Given the description of an element on the screen output the (x, y) to click on. 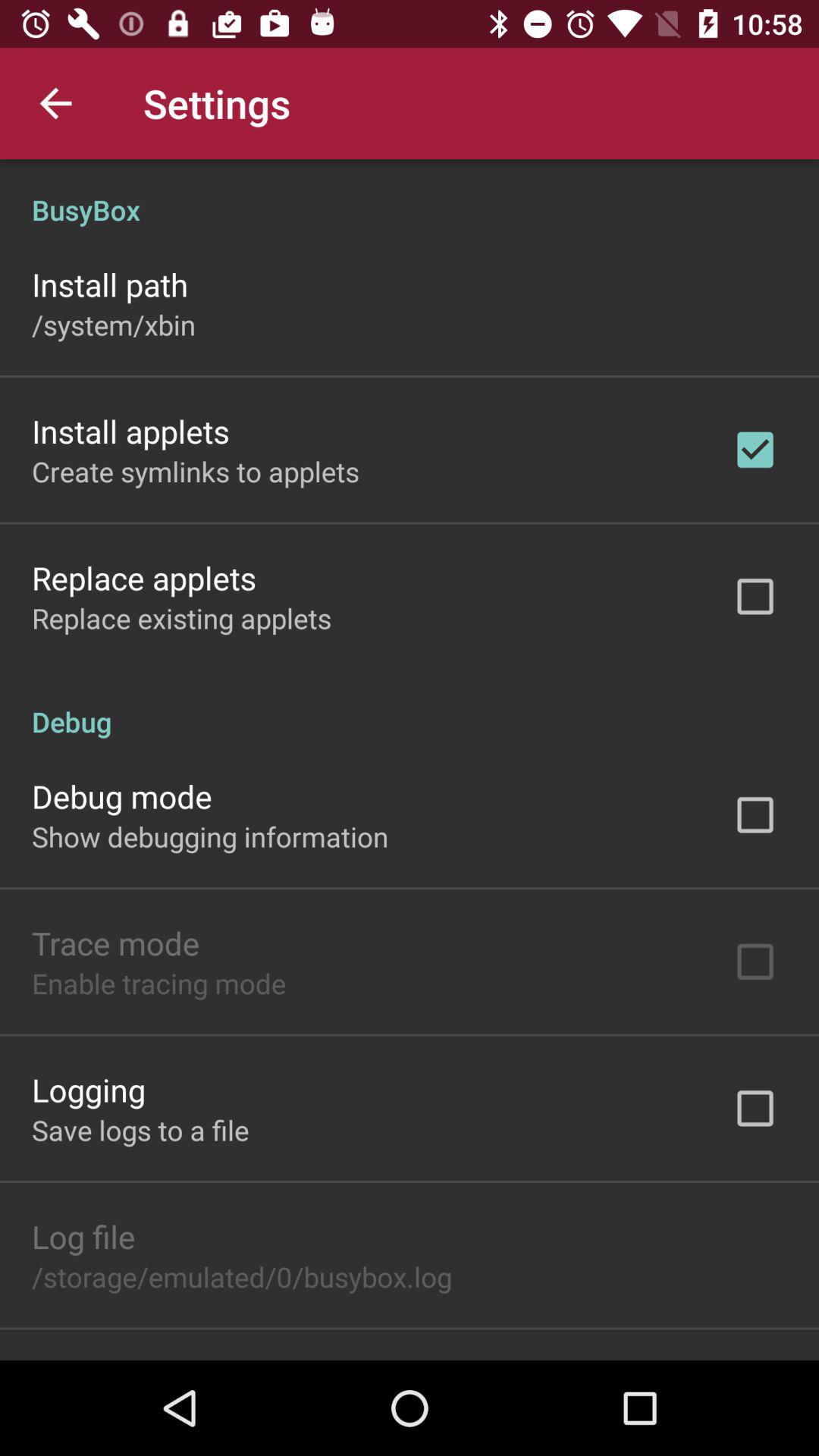
select the install path (109, 283)
